Given the description of an element on the screen output the (x, y) to click on. 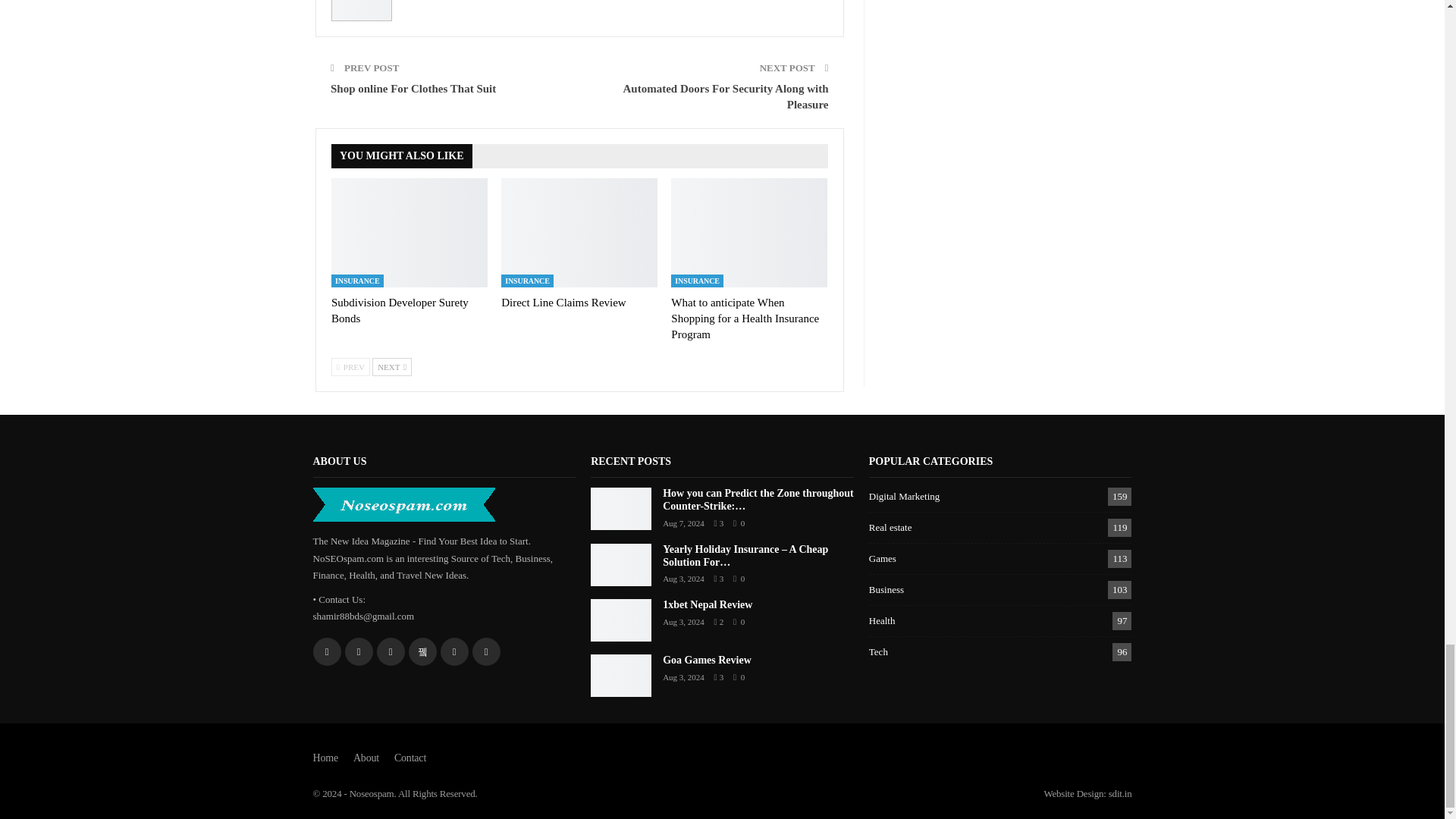
Direct Line Claims Review (579, 232)
Direct Line Claims Review (563, 302)
Subdivision Developer Surety Bonds (399, 310)
Subdivision Developer Surety Bonds (409, 232)
Next (392, 366)
Previous (350, 366)
